Given the description of an element on the screen output the (x, y) to click on. 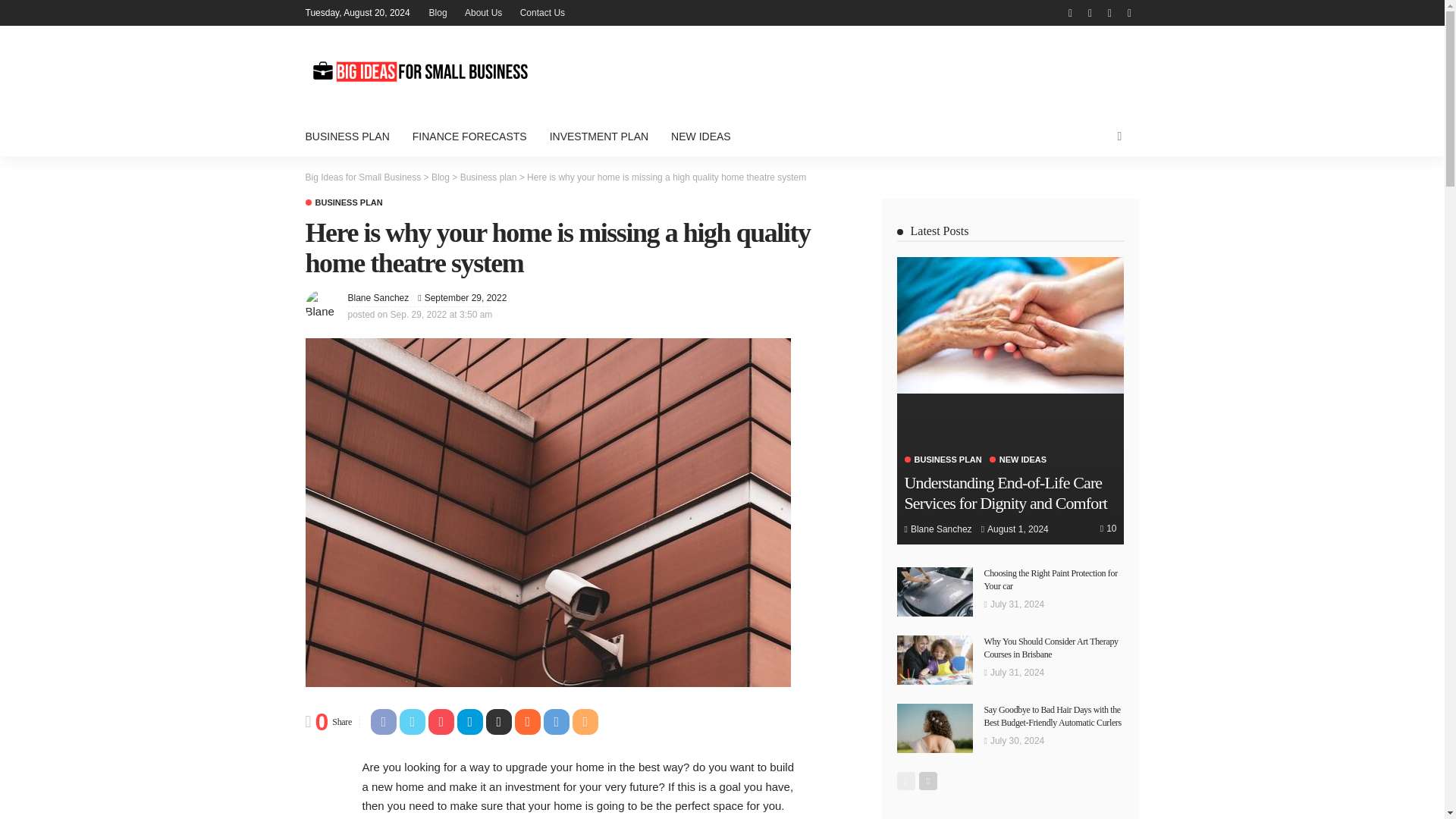
Go to Big Ideas for Small Business. (362, 176)
Contact Us (542, 12)
Big Ideas for Small Business (362, 176)
NEW IDEAS (700, 136)
Business plan (488, 176)
Blog (439, 176)
About Us (483, 12)
INVESTMENT PLAN (598, 136)
Blane Sanchez (378, 297)
search (1118, 136)
